Given the description of an element on the screen output the (x, y) to click on. 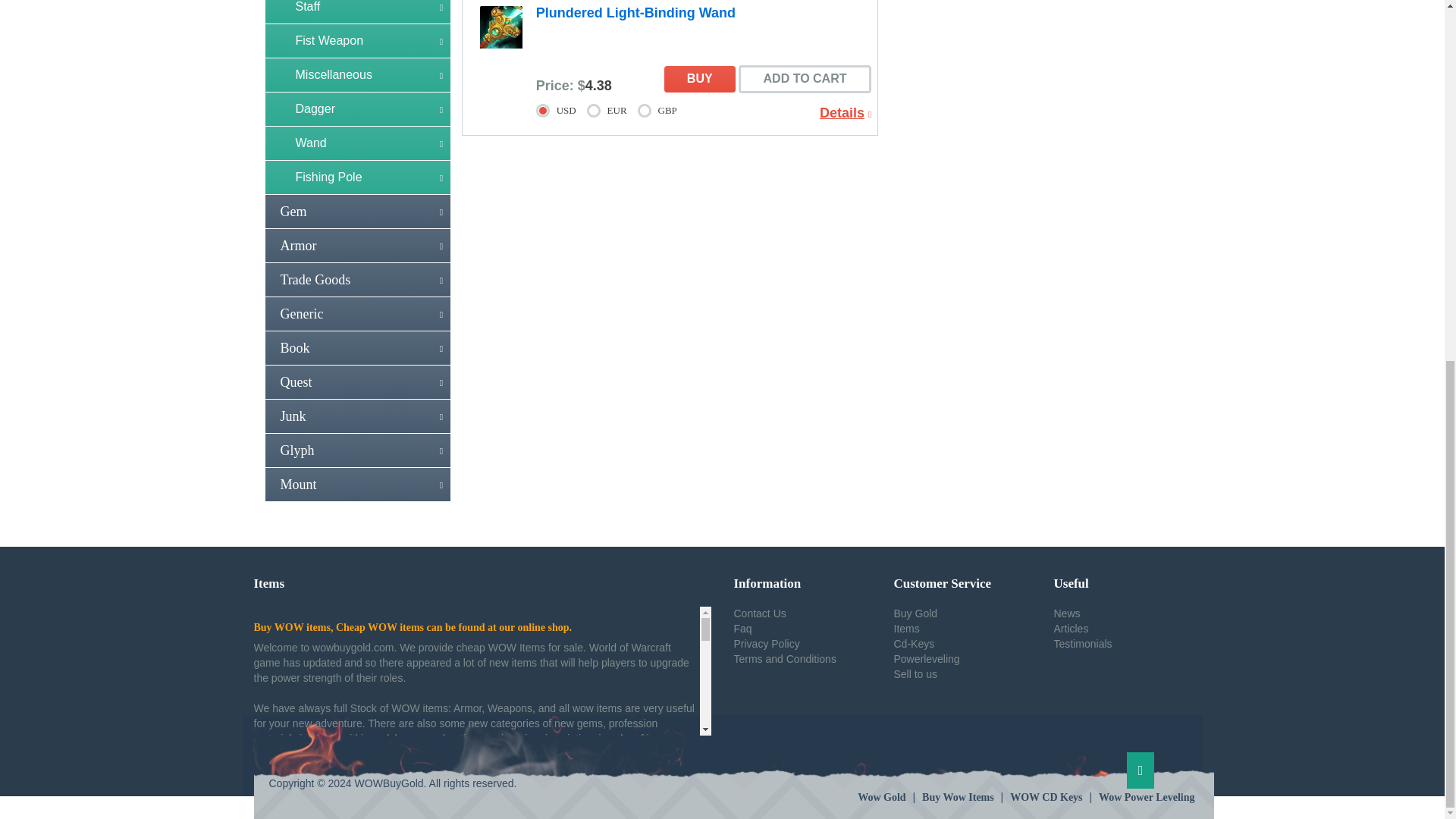
Mount (357, 484)
Fishing Pole (357, 177)
Miscellaneous (357, 74)
Staff (357, 11)
Gem (357, 211)
Dagger (357, 109)
Quest (357, 381)
Armor (357, 245)
Trade Goods (357, 279)
Generic (357, 313)
Junk (357, 416)
Book (357, 347)
Wand (357, 142)
Glyph (357, 450)
Fist Weapon (357, 40)
